Given the description of an element on the screen output the (x, y) to click on. 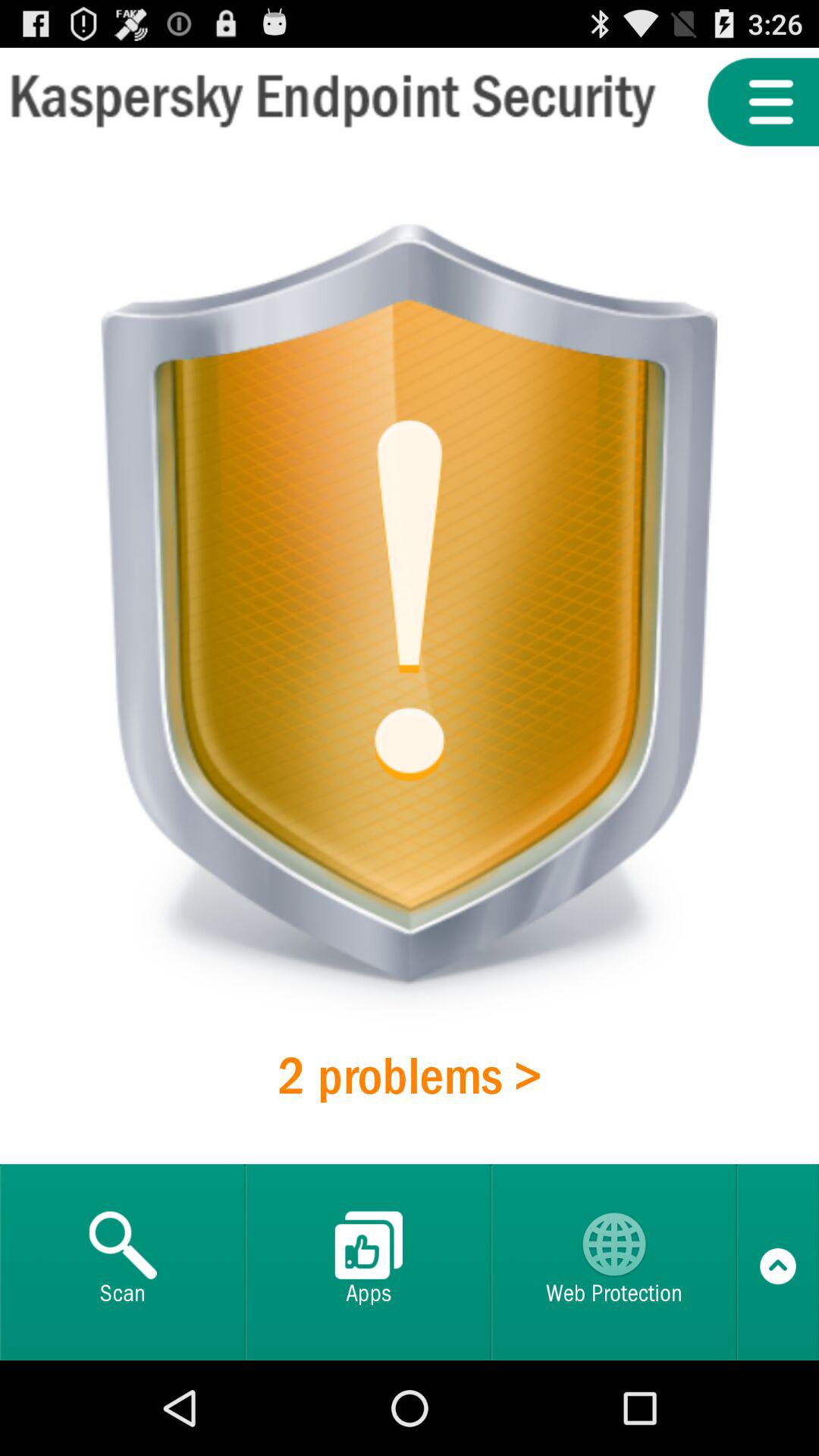
open menu (762, 102)
